Given the description of an element on the screen output the (x, y) to click on. 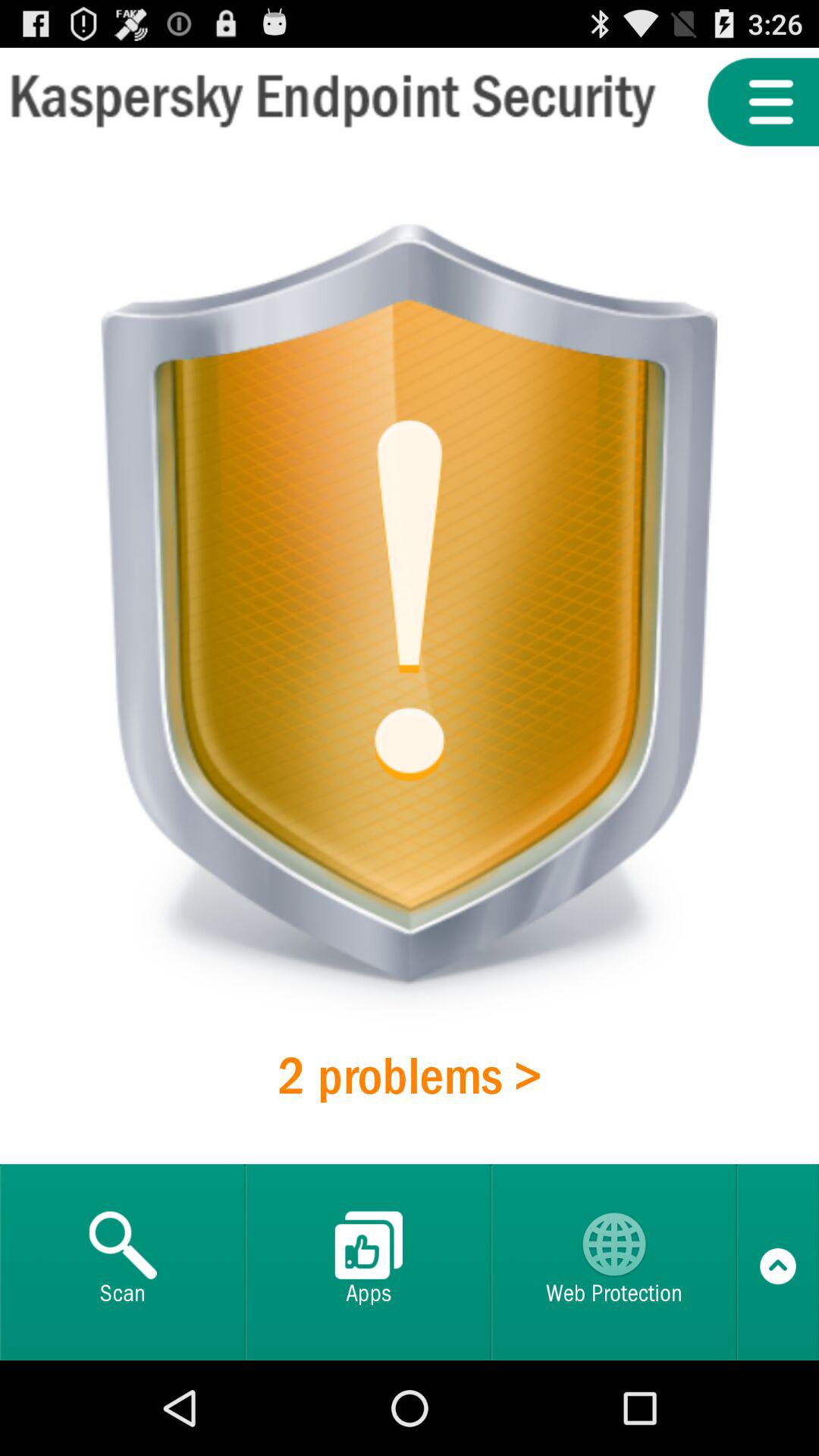
open menu (762, 102)
